Given the description of an element on the screen output the (x, y) to click on. 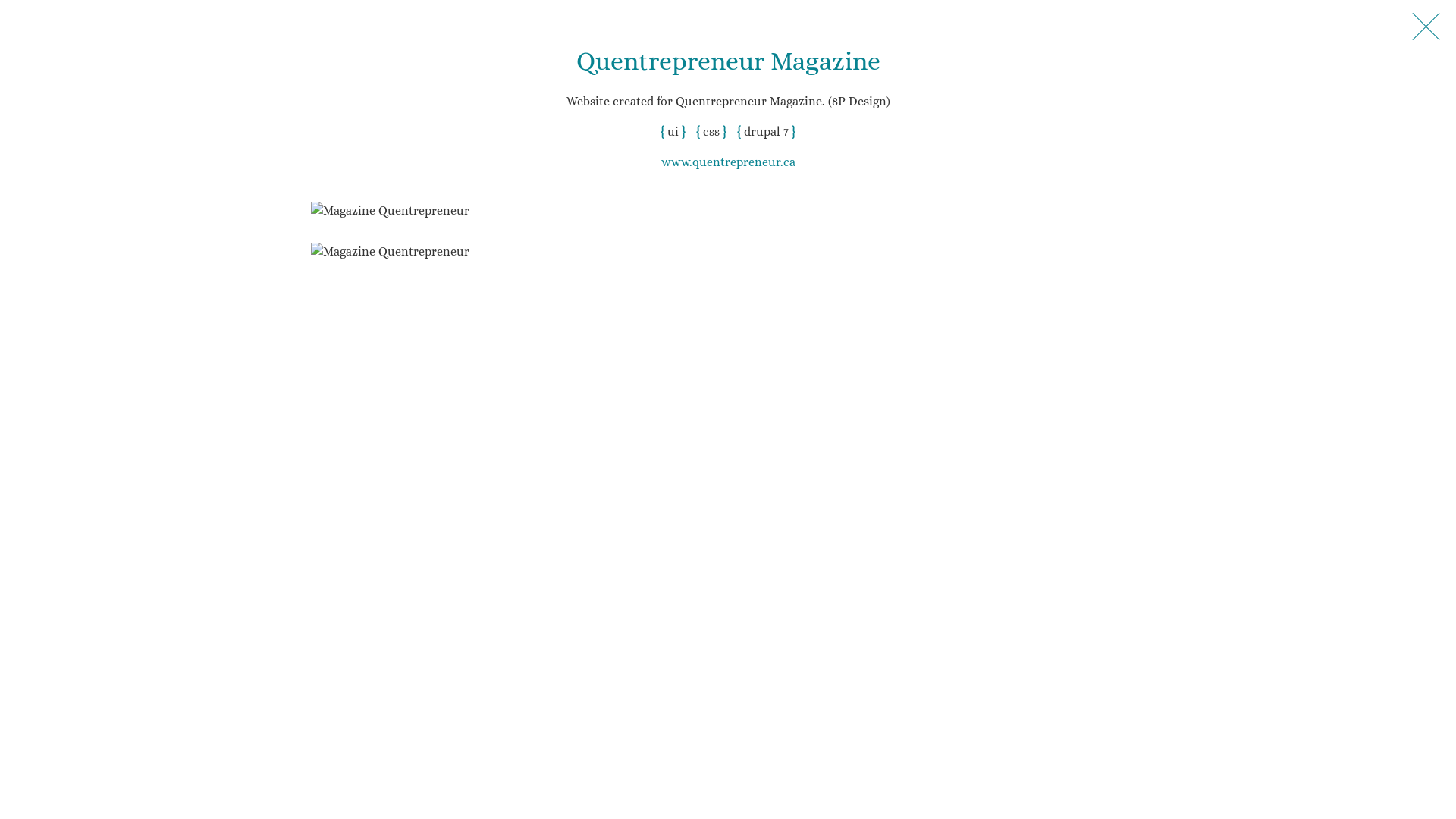
www.quentrepreneur.ca Element type: text (728, 161)
Magazine Quentrepreneur Element type: hover (389, 210)
